Given the description of an element on the screen output the (x, y) to click on. 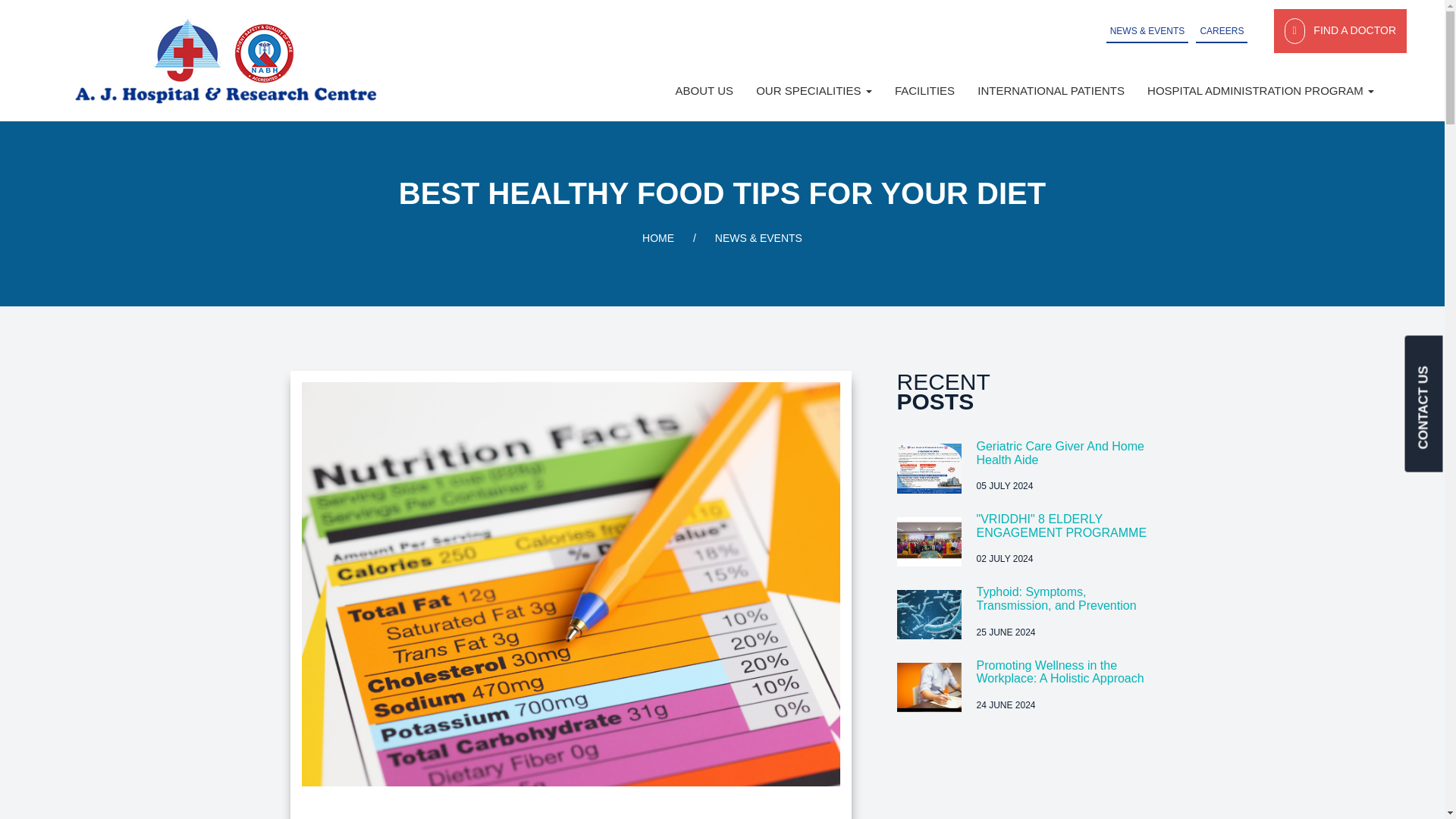
INTERNATIONAL PATIENTS (1050, 90)
Geriatric Care Giver And Home Health Aide (1060, 452)
HOSPITAL ADMINISTRATION PROGRAM (1260, 90)
Typhoid: Symptoms, Transmission, and Prevention (1056, 598)
Promoting Wellness in the Workplace: A Holistic Approach (1060, 672)
  FIND A DOCTOR (1340, 31)
CAREERS (1221, 30)
OUR SPECIALITIES (813, 90)
HOME (658, 237)
"VRIDDHI" 8 ELDERLY ENGAGEMENT PROGRAMME (1061, 525)
